Given the description of an element on the screen output the (x, y) to click on. 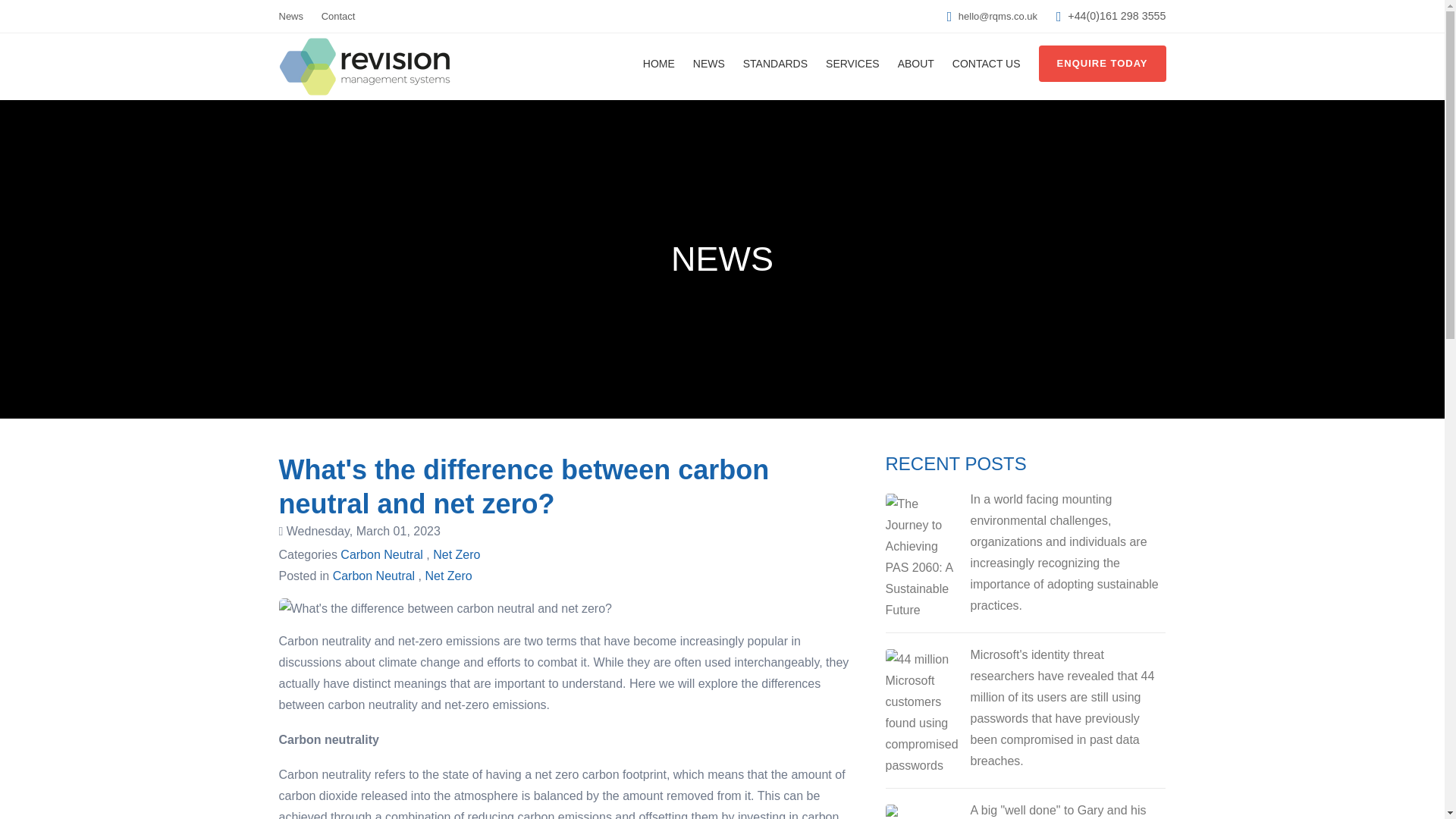
ABOUT (915, 63)
STANDARDS (774, 63)
News (290, 16)
Carbon Neutral (381, 554)
Carbon Neutral (373, 575)
ENQUIRE TODAY (1102, 63)
Contact (338, 16)
Net Zero (448, 575)
Net Zero (456, 554)
SERVICES (852, 63)
CONTACT US (986, 63)
